Given the description of an element on the screen output the (x, y) to click on. 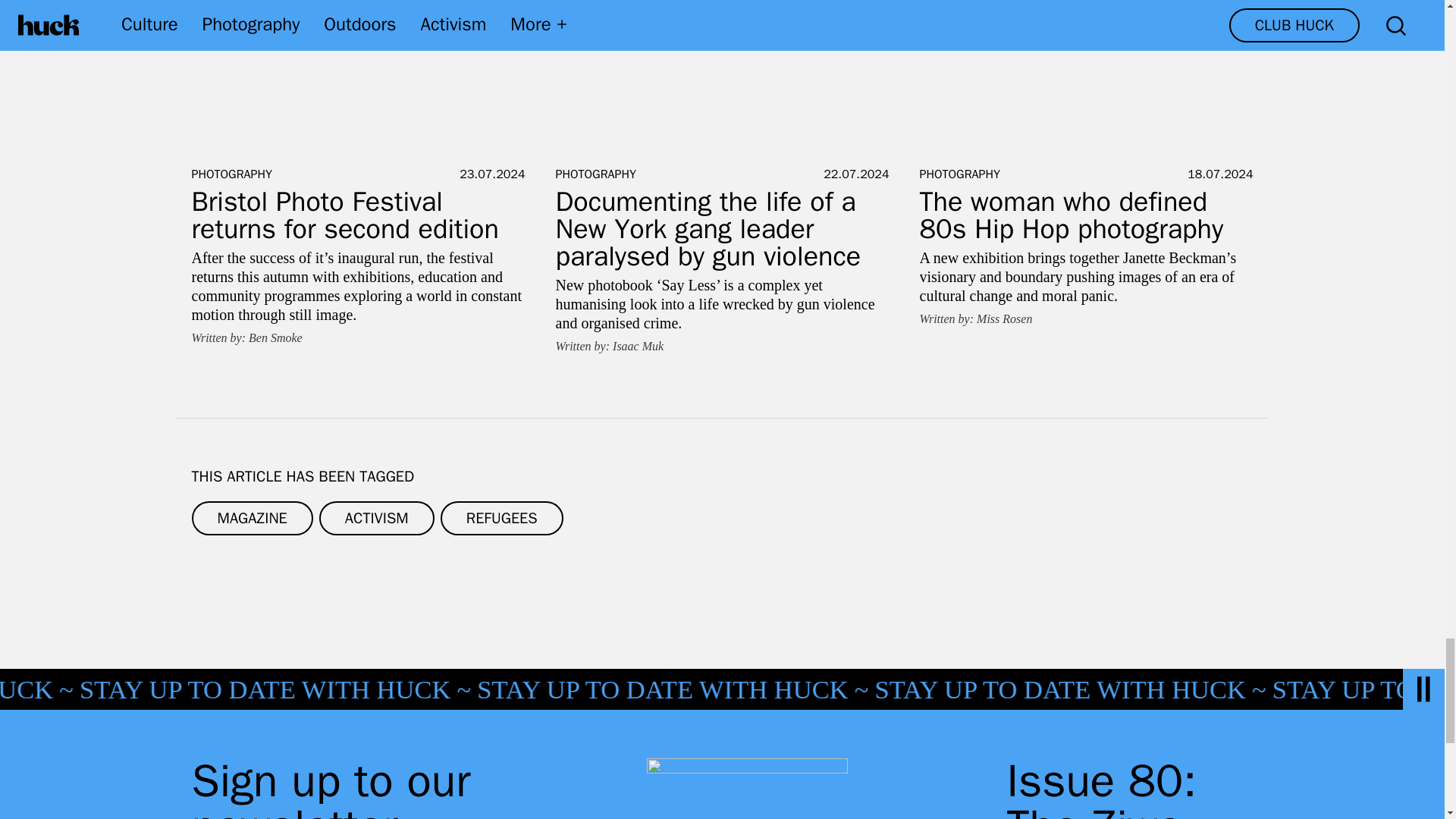
REFUGEES (502, 517)
ACTIVISM (375, 517)
MAGAZINE (251, 517)
